Given the description of an element on the screen output the (x, y) to click on. 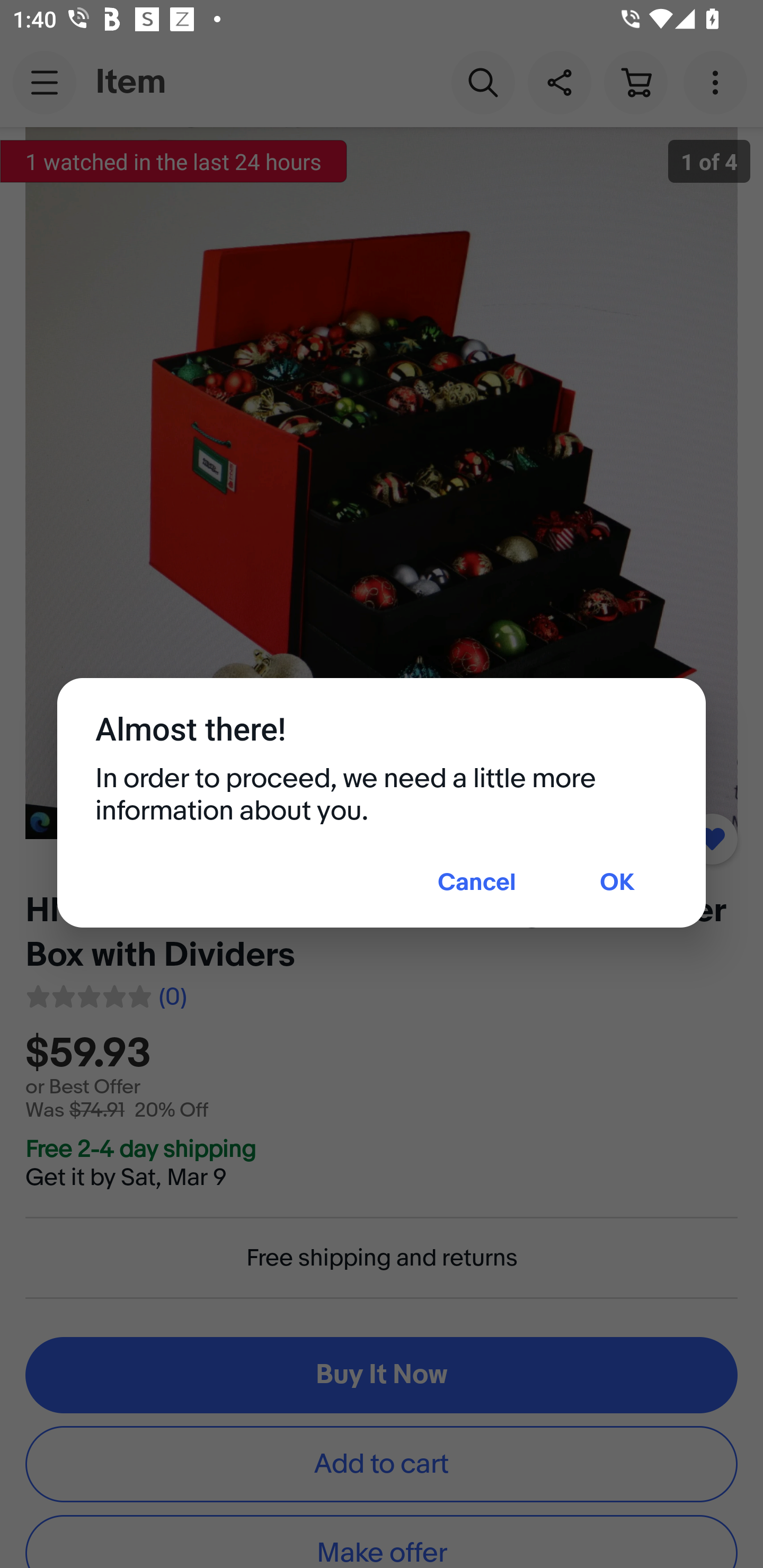
Cancel (476, 883)
OK (616, 883)
